Given the description of an element on the screen output the (x, y) to click on. 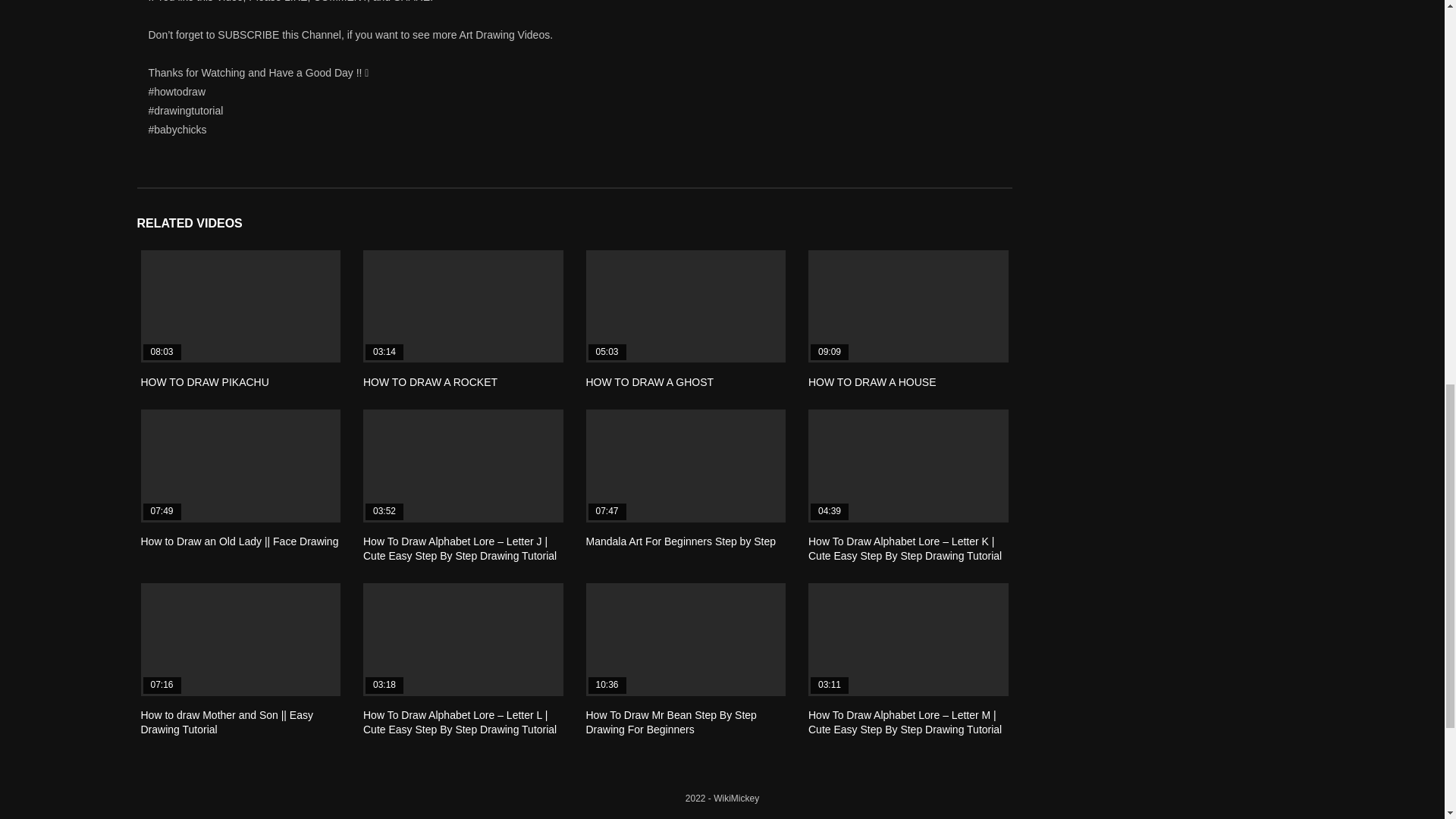
HOW TO DRAW A GHOST (649, 381)
HOW TO DRAW A GHOST (685, 306)
HOW TO DRAW PIKACHU (205, 381)
HOW TO DRAW A HOUSE (908, 306)
HOW TO DRAW A ROCKET (429, 381)
HOW TO DRAW A GHOST (649, 381)
HOW TO DRAW A ROCKET (462, 306)
HOW TO DRAW A HOUSE (872, 381)
HOW TO DRAW PIKACHU (205, 381)
HOW TO DRAW PIKACHU (240, 306)
HOW TO DRAW A ROCKET (429, 381)
